Given the description of an element on the screen output the (x, y) to click on. 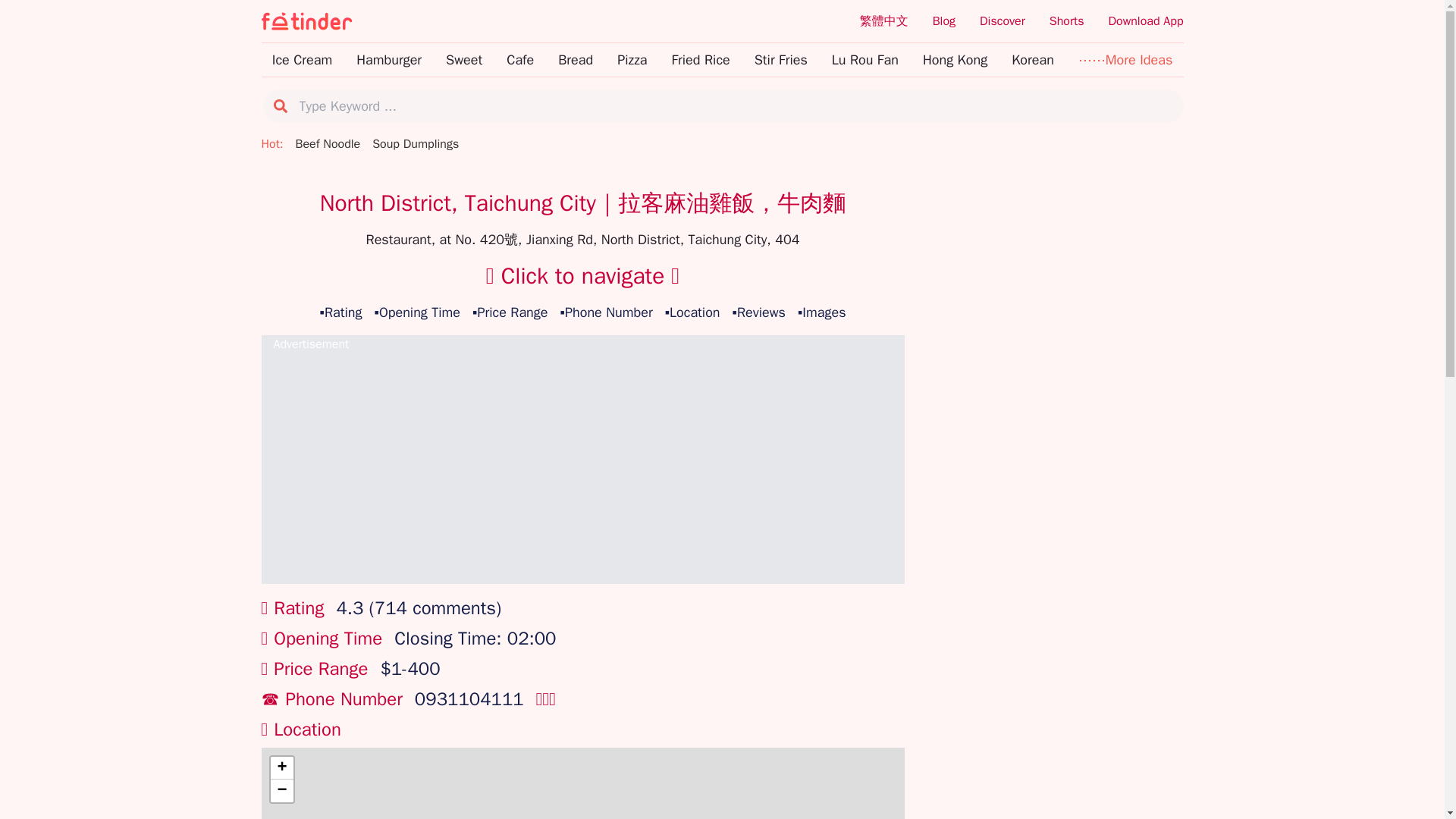
Sweet (463, 59)
Discover (1002, 21)
Korean (1032, 59)
Bread (574, 59)
Download App (1145, 21)
Fried Rice (700, 59)
Blog (944, 21)
Advertisement (582, 465)
Lu Rou Fan (864, 59)
Zoom in (280, 767)
